Given the description of an element on the screen output the (x, y) to click on. 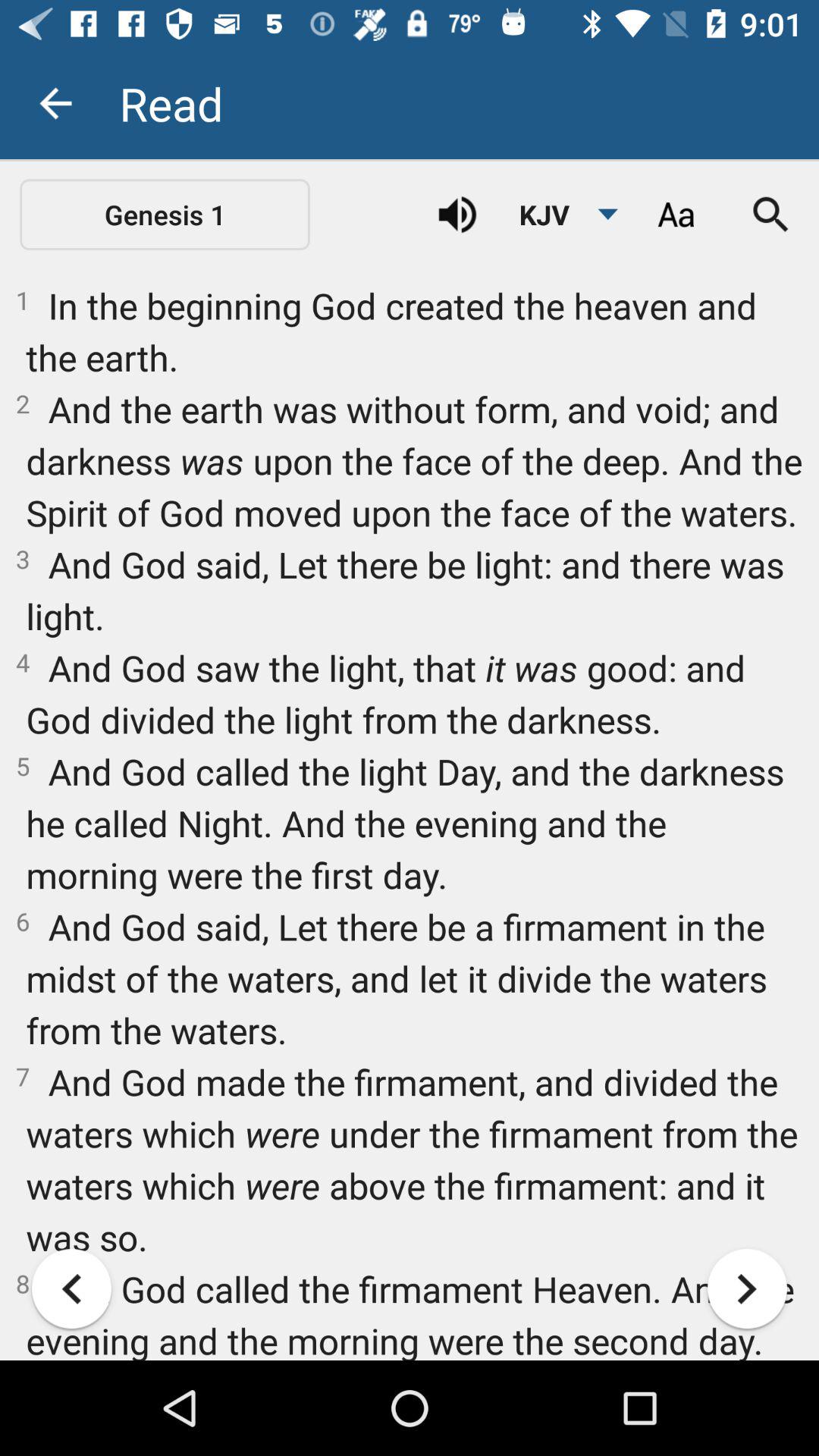
turn on the item below the 6 and god (747, 1288)
